Given the description of an element on the screen output the (x, y) to click on. 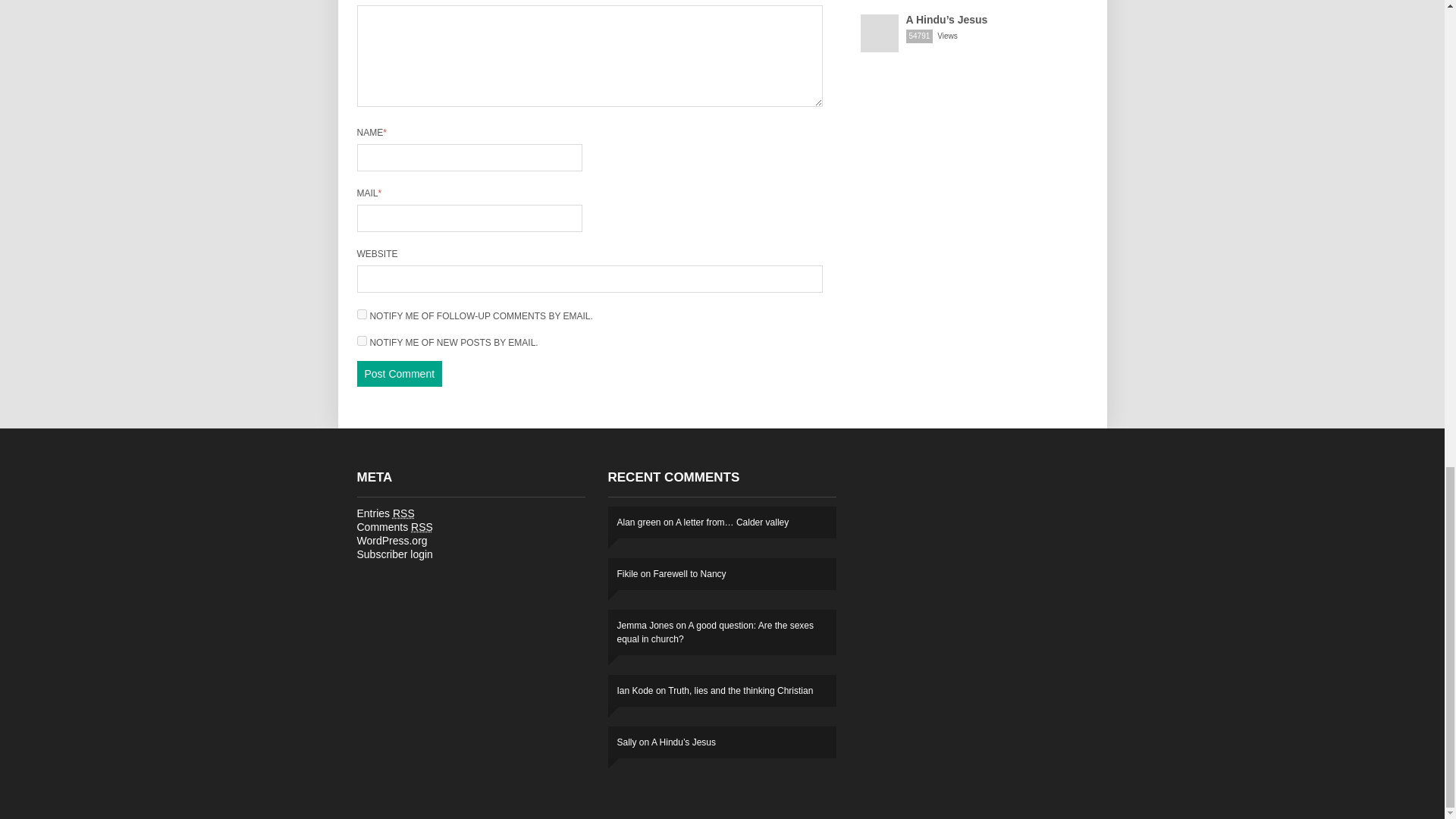
subscribe (361, 314)
Really Simple Syndication (421, 526)
Really Simple Syndication (403, 512)
Post Comment (399, 373)
subscribe (361, 340)
